Given the description of an element on the screen output the (x, y) to click on. 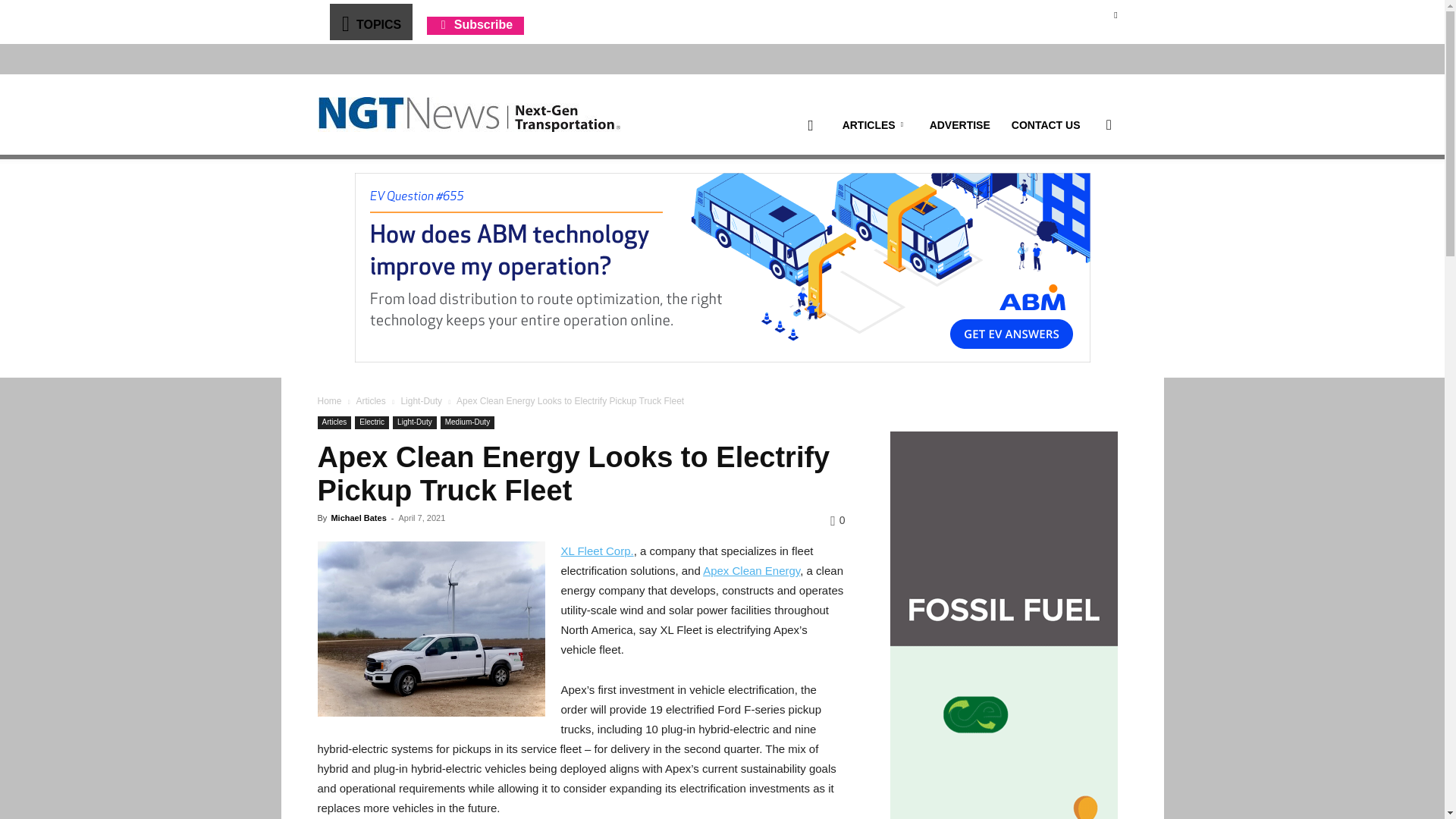
Twitter (1114, 14)
Search (1085, 197)
Subscribe (475, 24)
NGT News (468, 114)
Alternative Fuel News, CNG News (468, 114)
TOPICS (370, 22)
ARTICLES (874, 124)
